Given the description of an element on the screen output the (x, y) to click on. 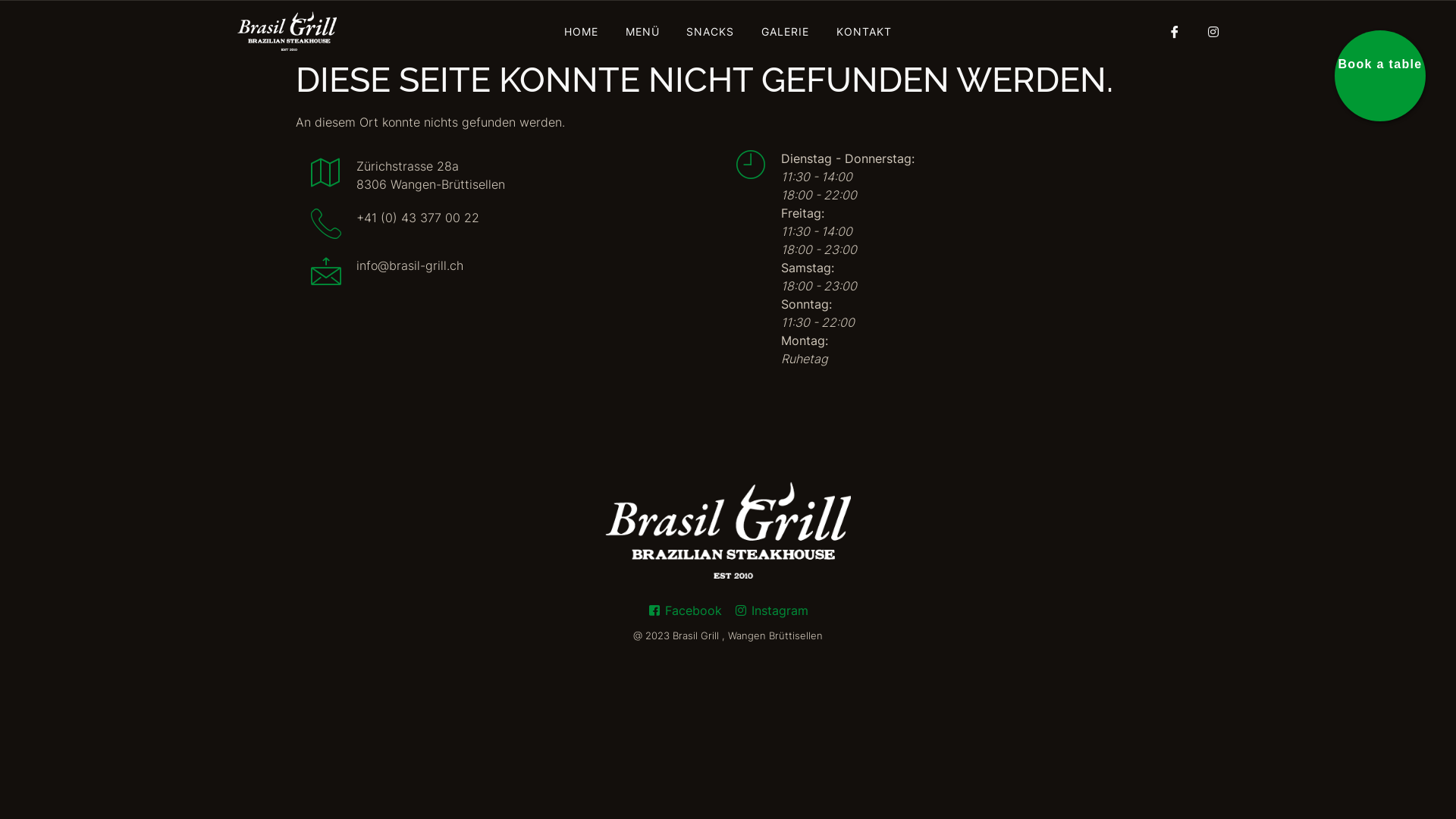
Book a table Element type: text (1379, 75)
info@brasil-grill.ch Element type: text (386, 272)
+41 (0) 43 377 00 22 Element type: text (394, 224)
HOME Element type: text (581, 30)
Instagram Element type: text (771, 610)
SNACKS Element type: text (710, 30)
GALERIE Element type: text (785, 30)
Facebook Element type: text (684, 610)
KONTAKT Element type: text (863, 30)
